Given the description of an element on the screen output the (x, y) to click on. 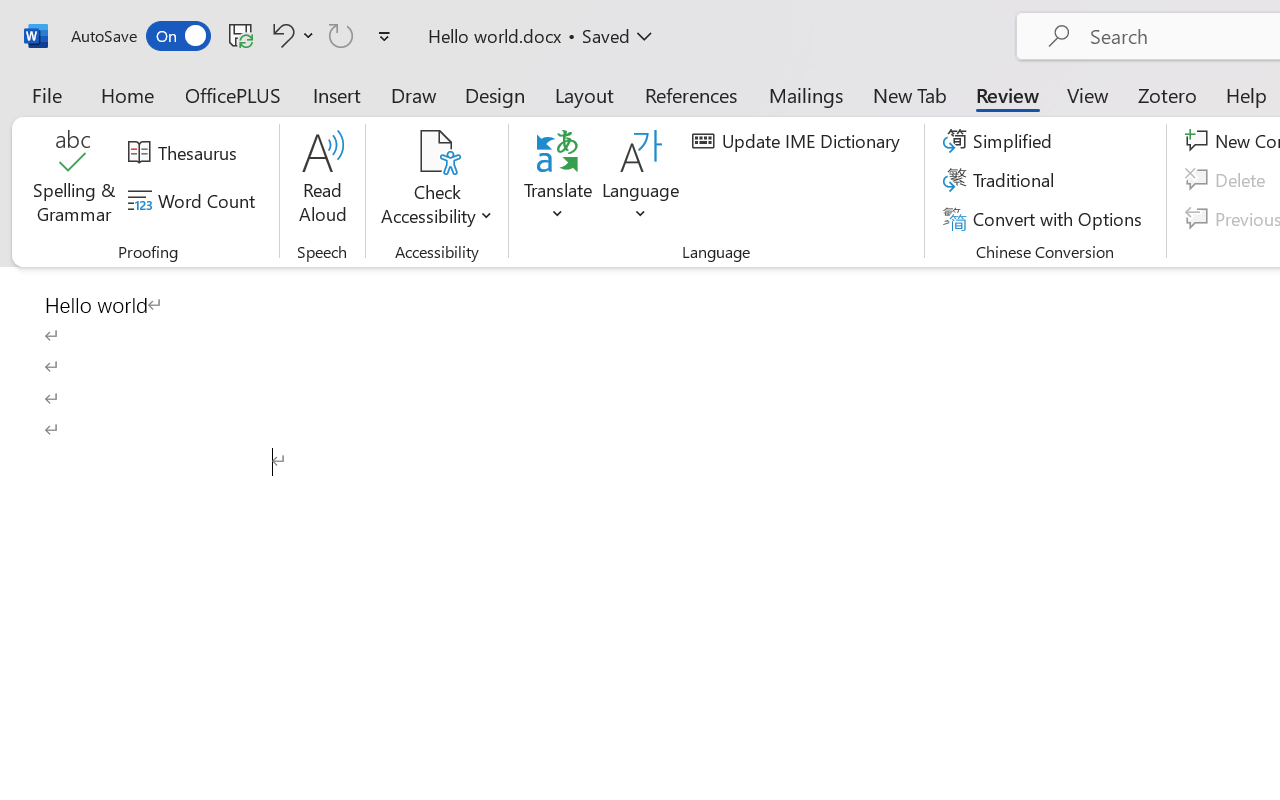
Layout (584, 94)
Undo Click and Type Formatting (280, 35)
Save (241, 35)
Read Aloud (322, 179)
View (1087, 94)
Spelling & Grammar (74, 180)
Mailings (806, 94)
AutoSave (140, 35)
Update IME Dictionary... (799, 141)
Quick Access Toolbar (233, 36)
Thesaurus... (185, 153)
References (690, 94)
Convert with Options... (1045, 218)
Language (641, 179)
